Given the description of an element on the screen output the (x, y) to click on. 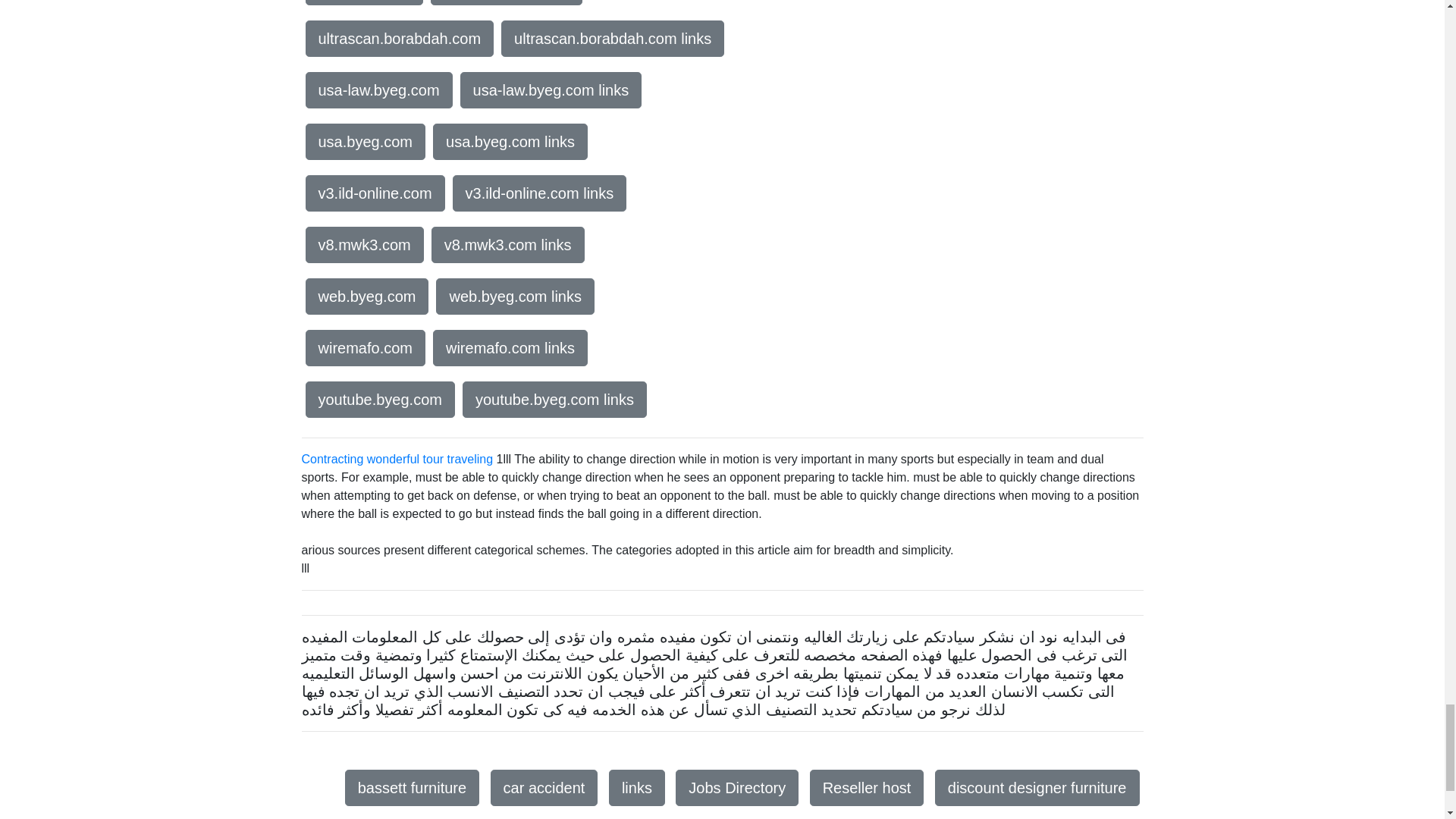
car accident (544, 787)
links (636, 787)
discount designer furniture (1037, 787)
Reseller host (866, 787)
Jobs Directory (736, 787)
bassett furniture (412, 787)
